Given the description of an element on the screen output the (x, y) to click on. 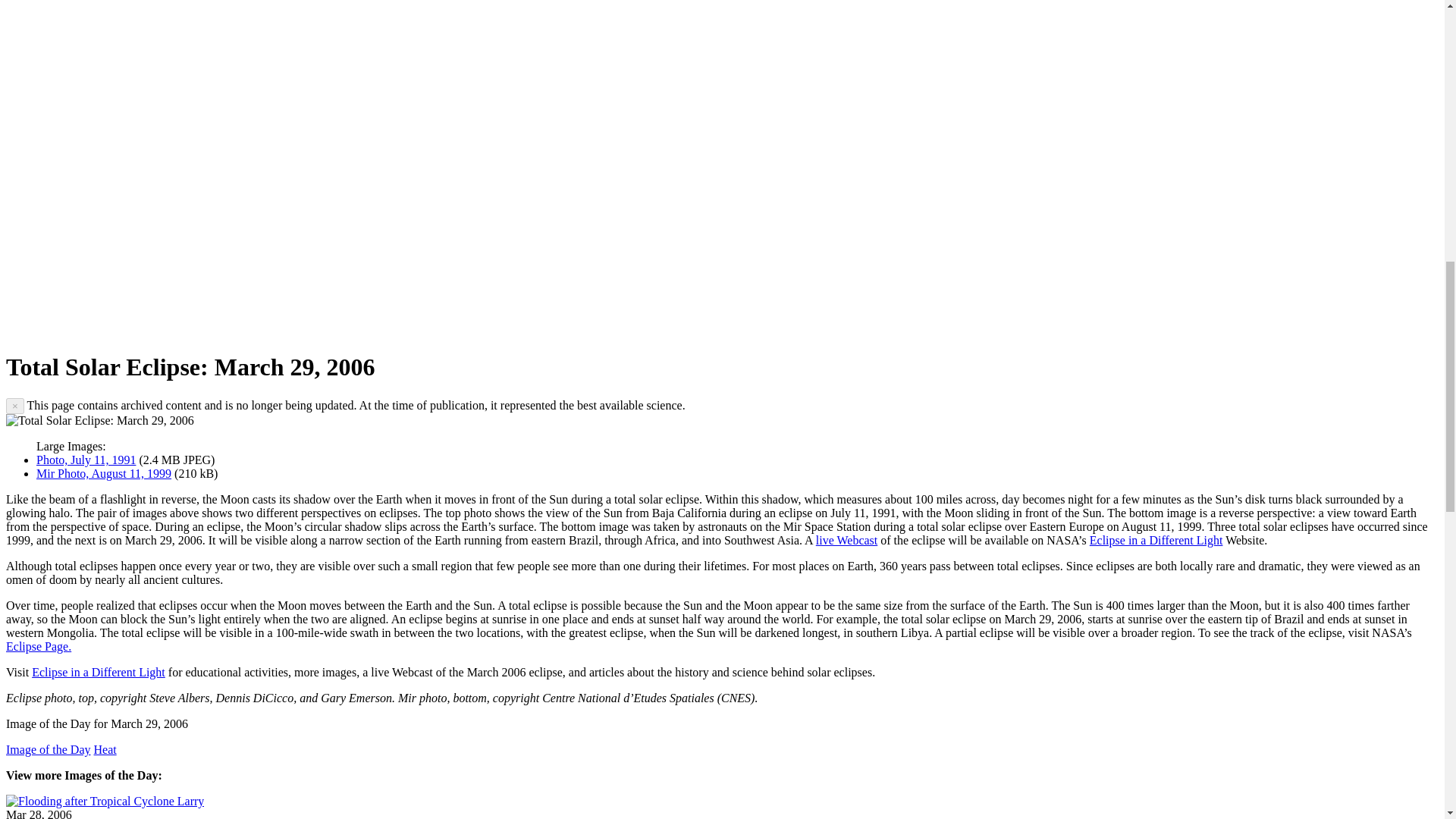
Share (161, 329)
Print (510, 329)
